Given the description of an element on the screen output the (x, y) to click on. 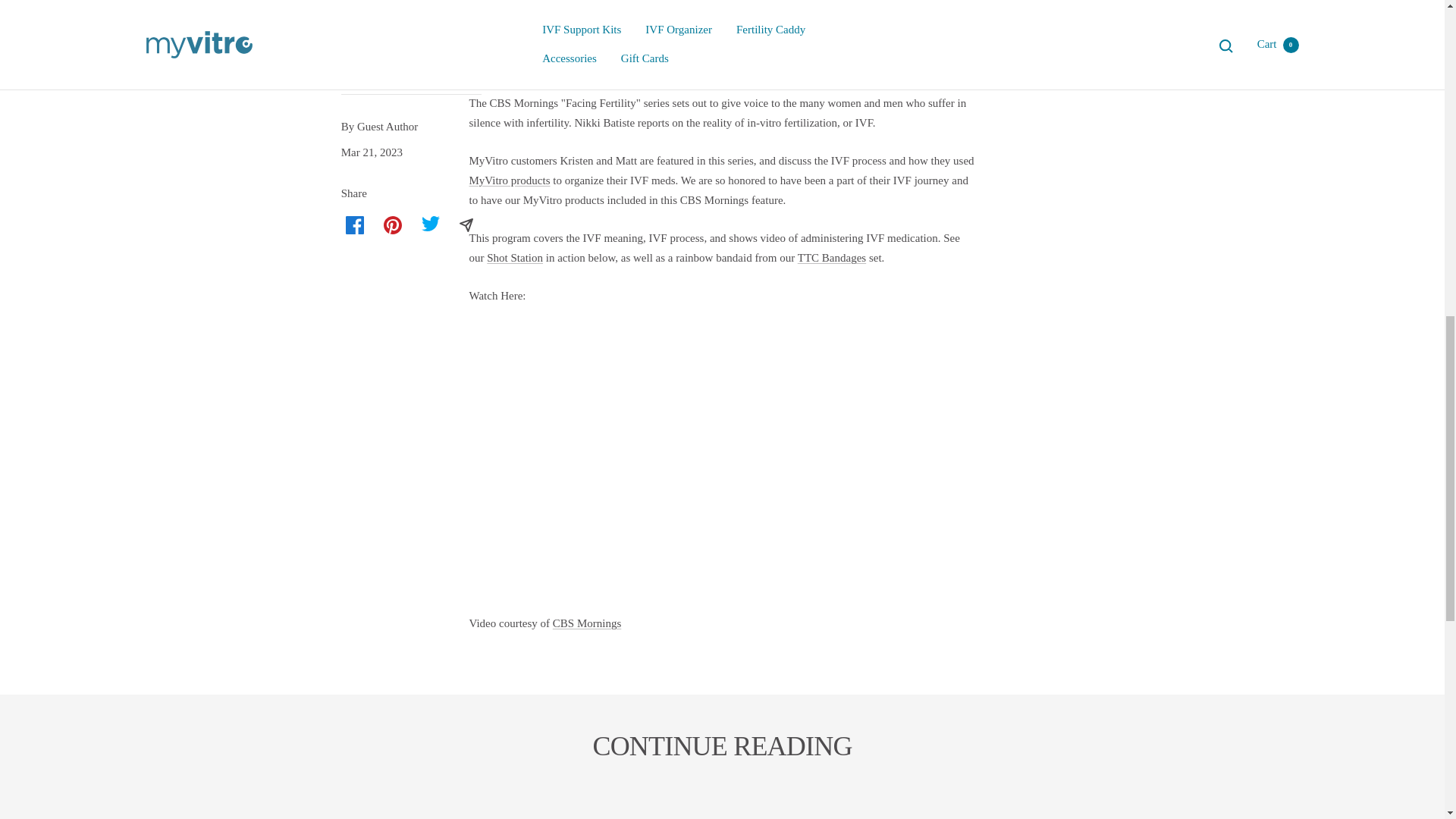
TTC Bandages (831, 257)
Shot Station (514, 257)
CBS Mornings (587, 623)
MyVitro products (509, 180)
Rainbow bandaids for ivf (831, 257)
CBS Mornings Facing Fertility the reality of IVF (587, 623)
MyVitro IVF Medication Organizers (509, 180)
MyVitro Medication Mat (514, 257)
